Given the description of an element on the screen output the (x, y) to click on. 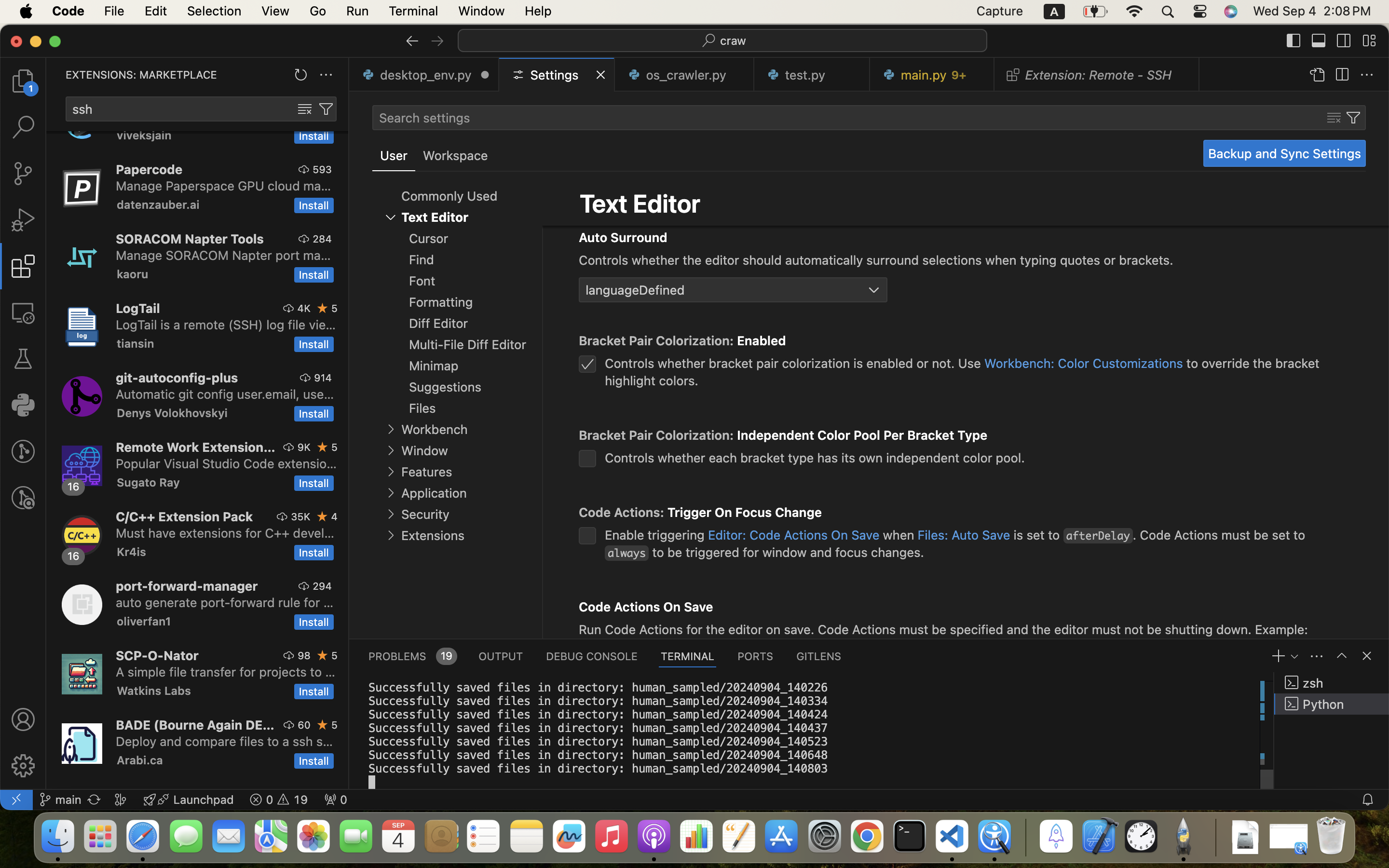
Commonly Used Element type: AXStaticText (449, 196)
0 GITLENS Element type: AXRadioButton (819, 655)
Trigger On Focus Change Element type: AXStaticText (744, 512)
 Element type: AXStaticText (390, 216)
Text Editor Element type: AXStaticText (640, 203)
